Given the description of an element on the screen output the (x, y) to click on. 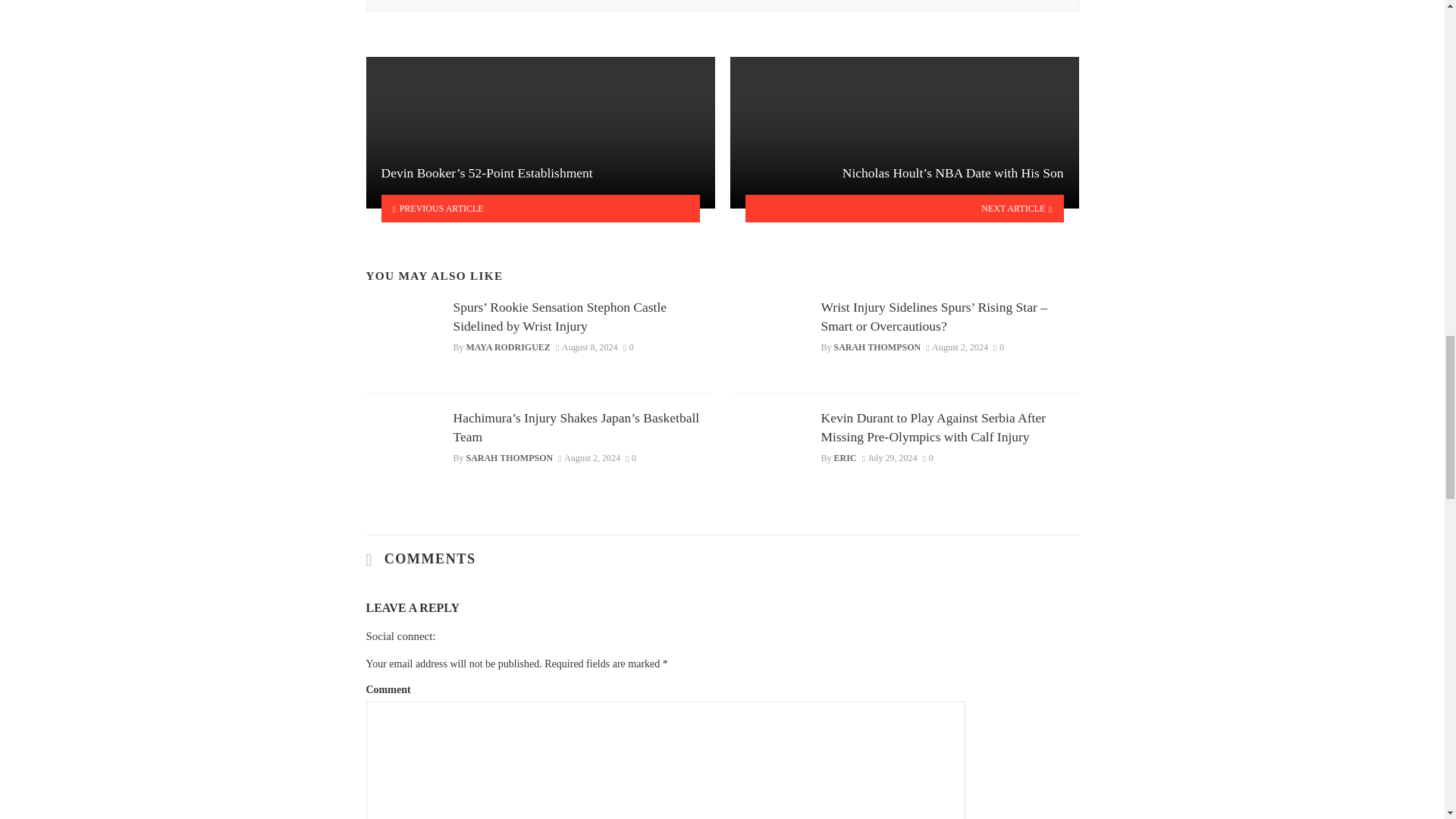
PREVIOUS ARTICLE (539, 207)
0 Comments (628, 347)
NEXT ARTICLE (903, 207)
August 8, 2024 at 7:48 am (586, 347)
